Given the description of an element on the screen output the (x, y) to click on. 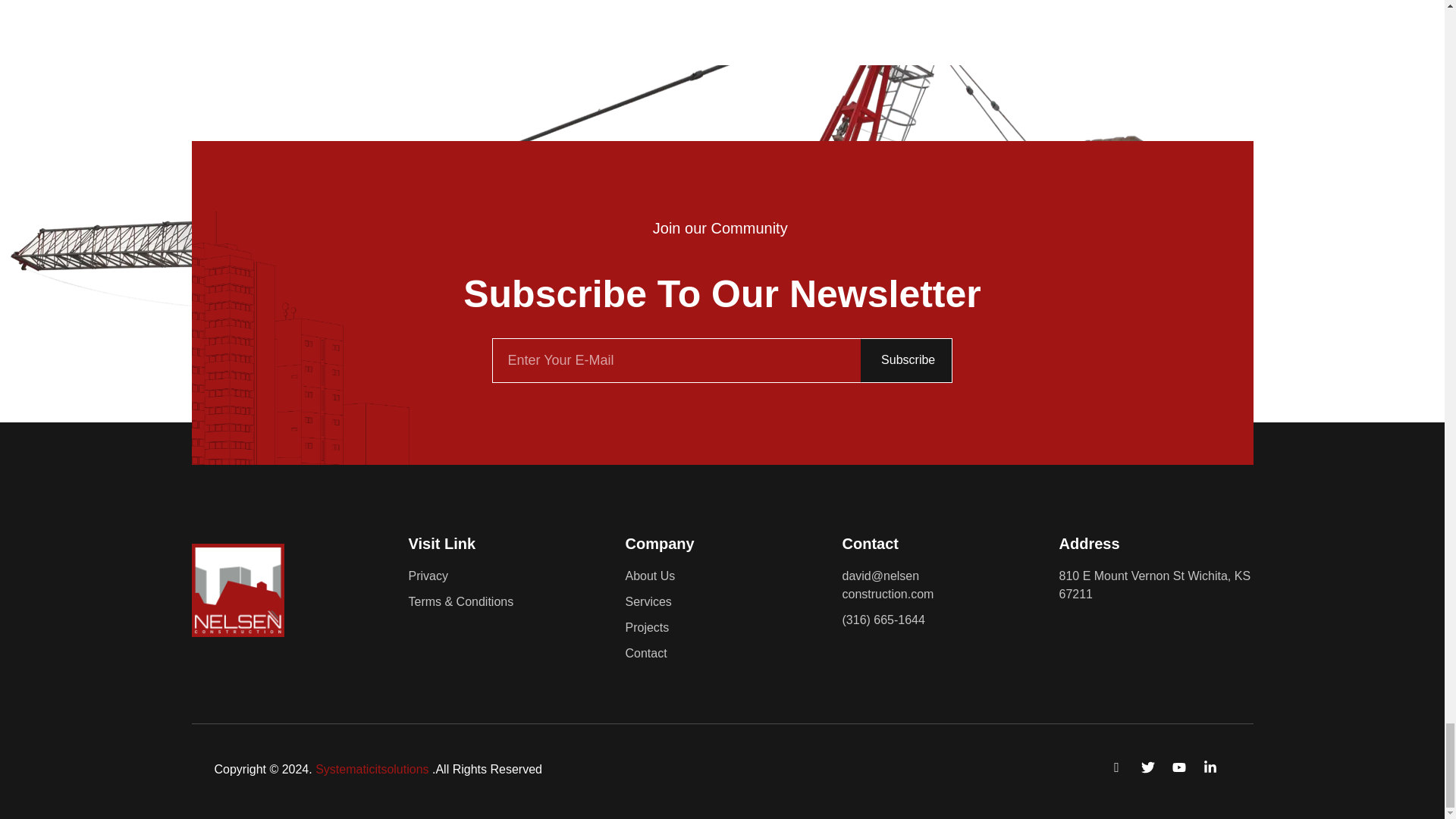
Subscribe (906, 360)
Privacy (504, 576)
